Given the description of an element on the screen output the (x, y) to click on. 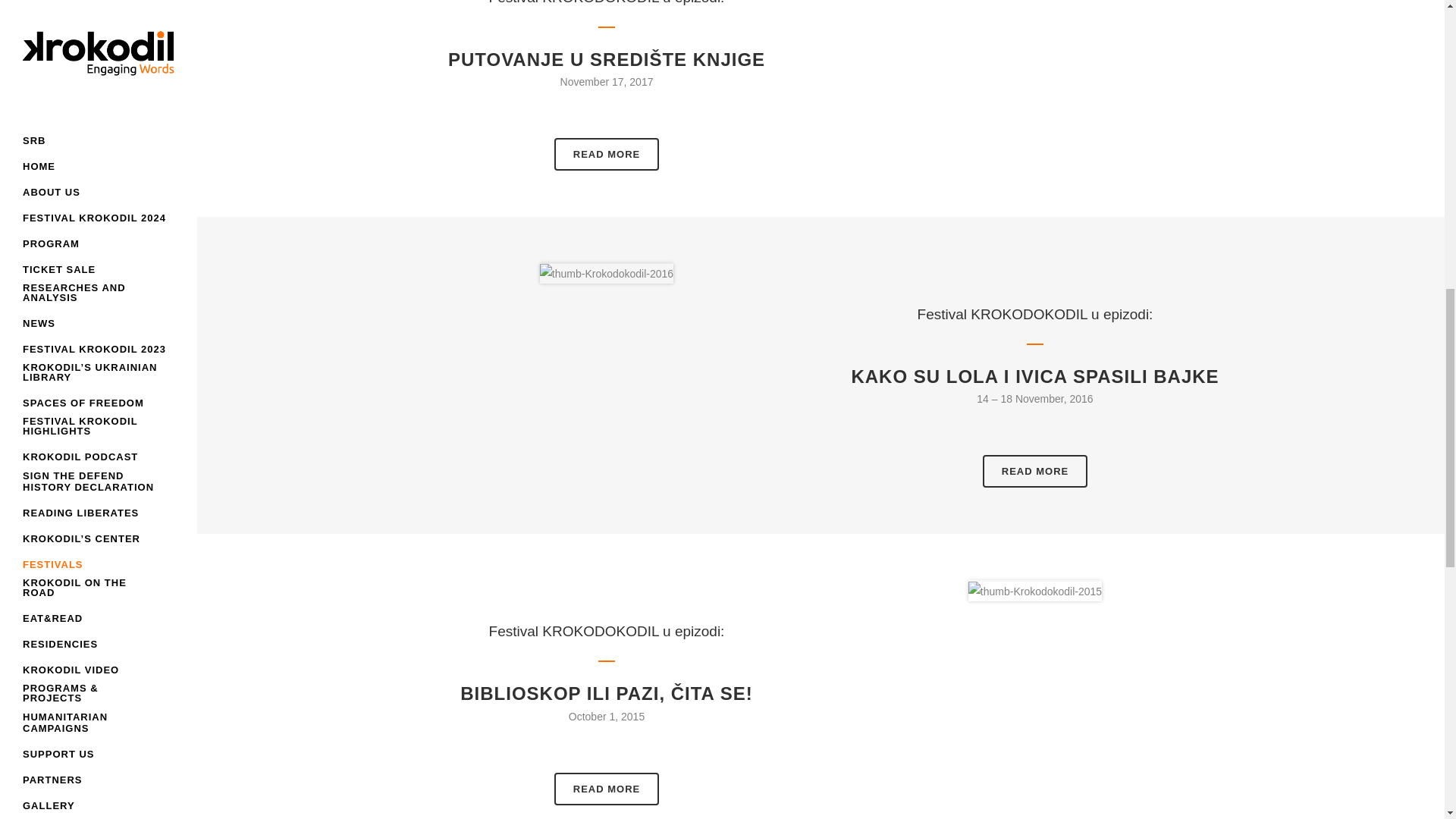
thumb-Krokodokodil-2015 (1035, 591)
thumb-Krokodokodil-2016 (606, 273)
